Given the description of an element on the screen output the (x, y) to click on. 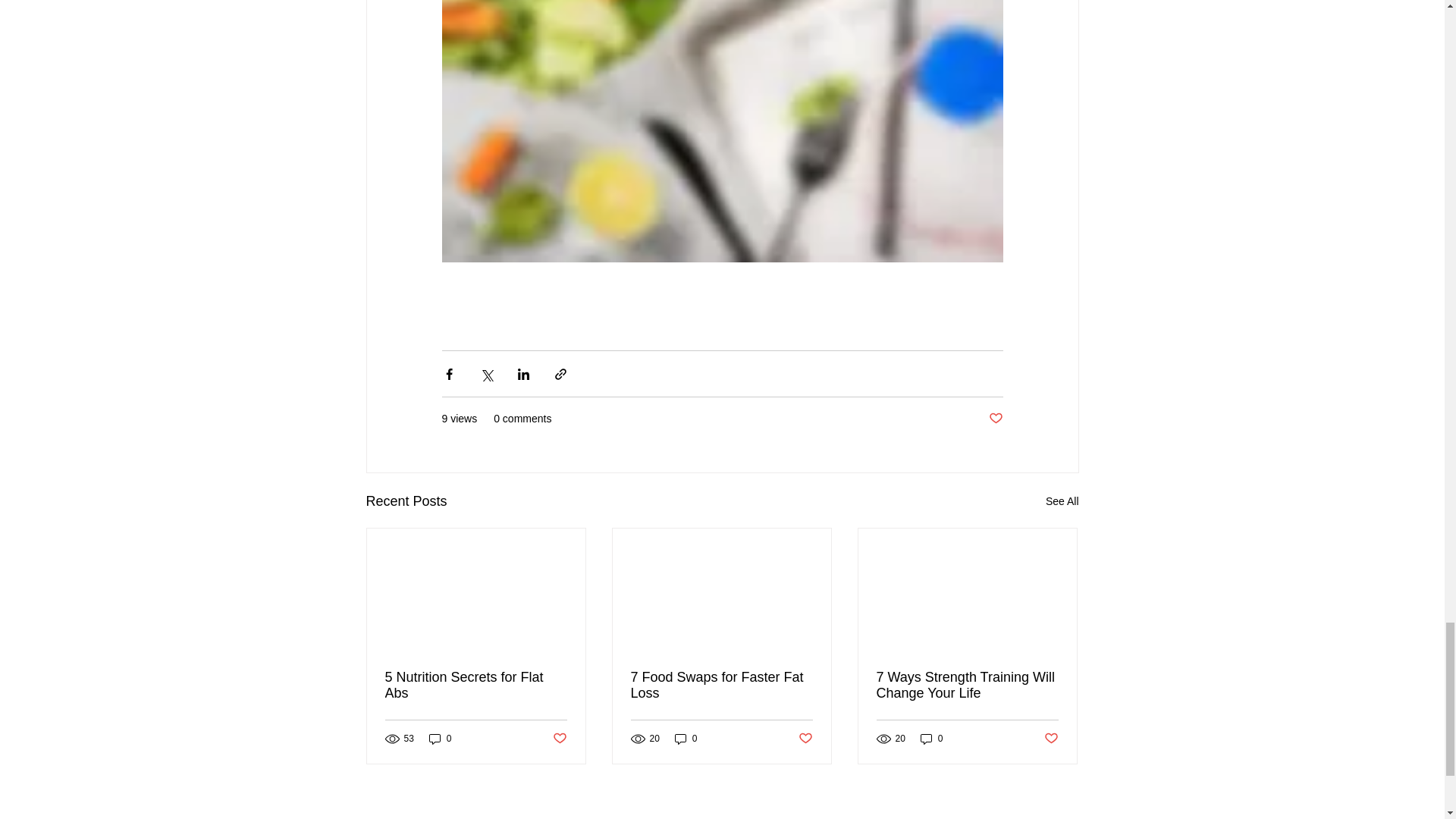
7 Ways Strength Training Will Change Your Life (967, 685)
5 Nutrition Secrets for Flat Abs (476, 685)
See All (1061, 501)
0 (440, 739)
Post not marked as liked (558, 738)
Post not marked as liked (804, 738)
0 (685, 739)
0 (931, 739)
Post not marked as liked (995, 418)
Post not marked as liked (1050, 738)
